Given the description of an element on the screen output the (x, y) to click on. 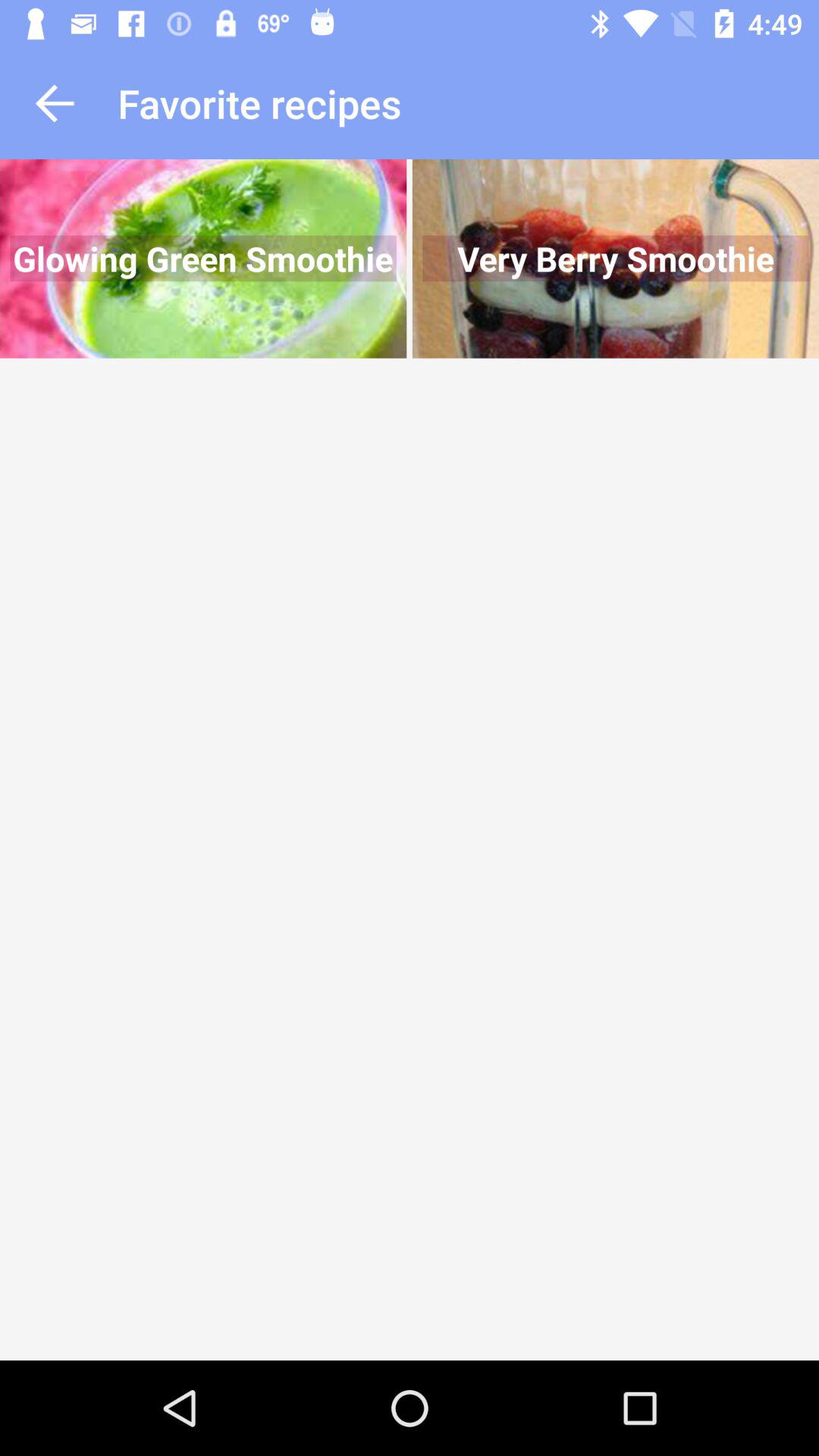
select the item next to the favorite recipes icon (54, 103)
